Given the description of an element on the screen output the (x, y) to click on. 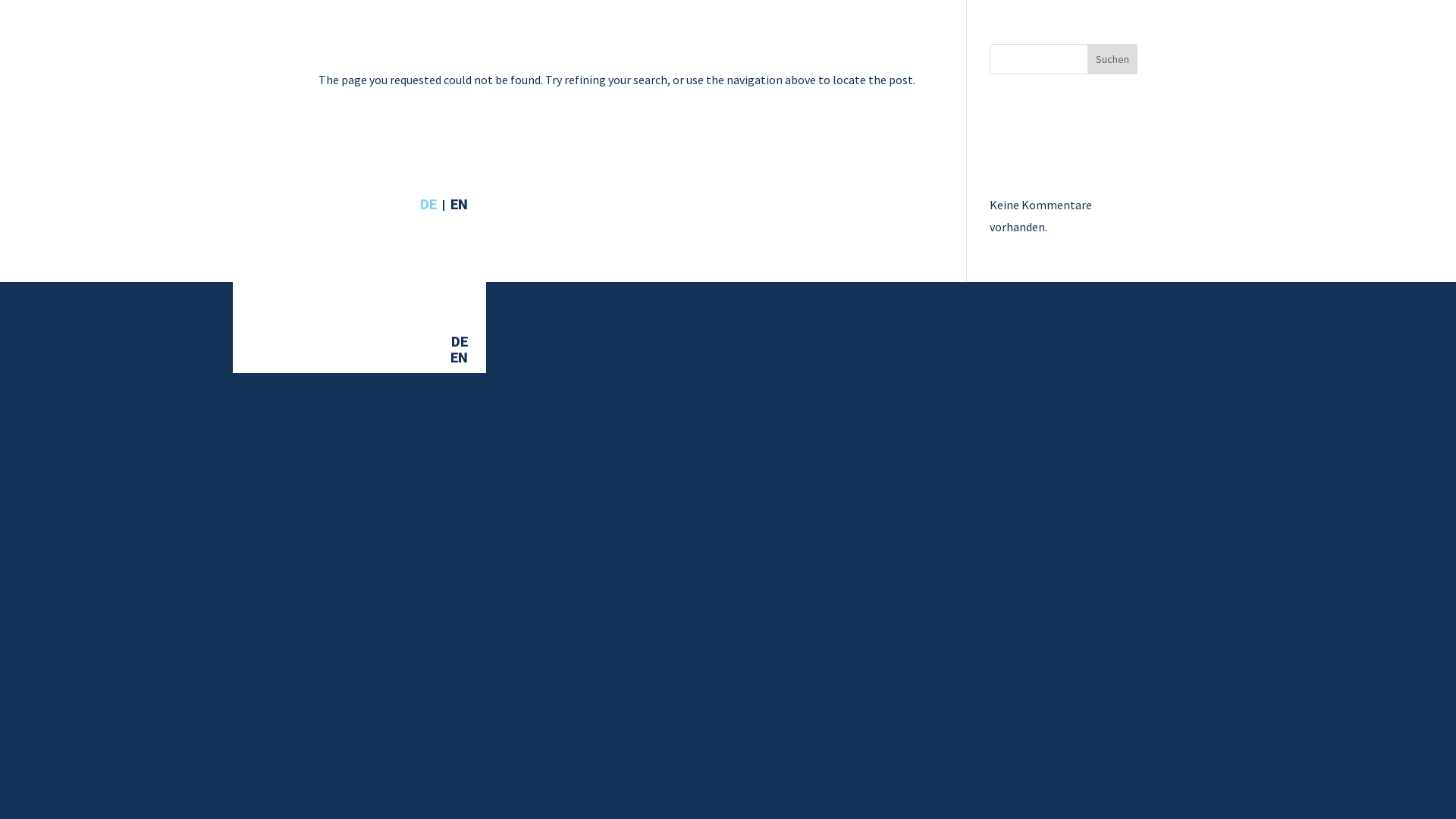
DE Element type: text (459, 345)
Follow on LinkedIn Element type: hover (448, 685)
DE Element type: text (432, 205)
EN Element type: text (458, 205)
Suchen Element type: text (1112, 58)
EN Element type: text (458, 361)
